Given the description of an element on the screen output the (x, y) to click on. 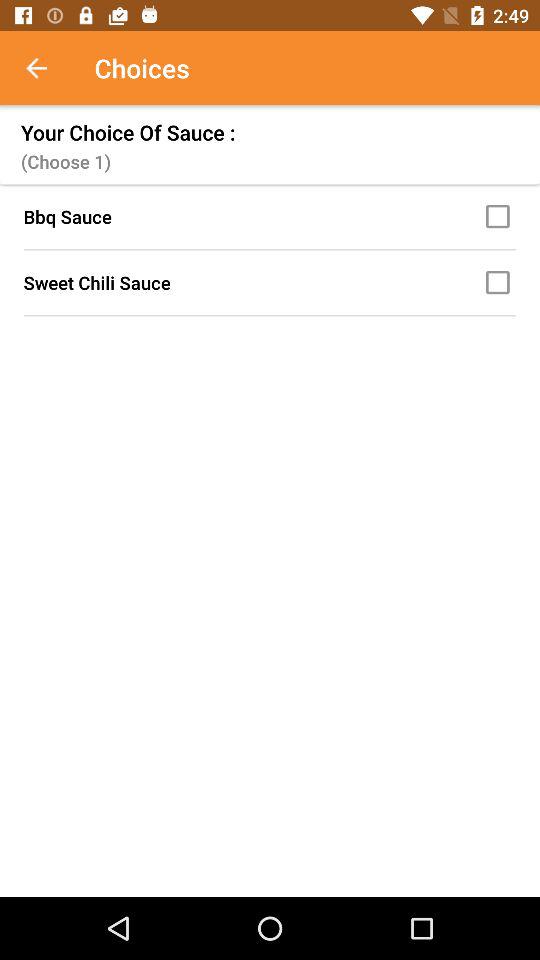
toggle sweet chili sauce (501, 282)
